Given the description of an element on the screen output the (x, y) to click on. 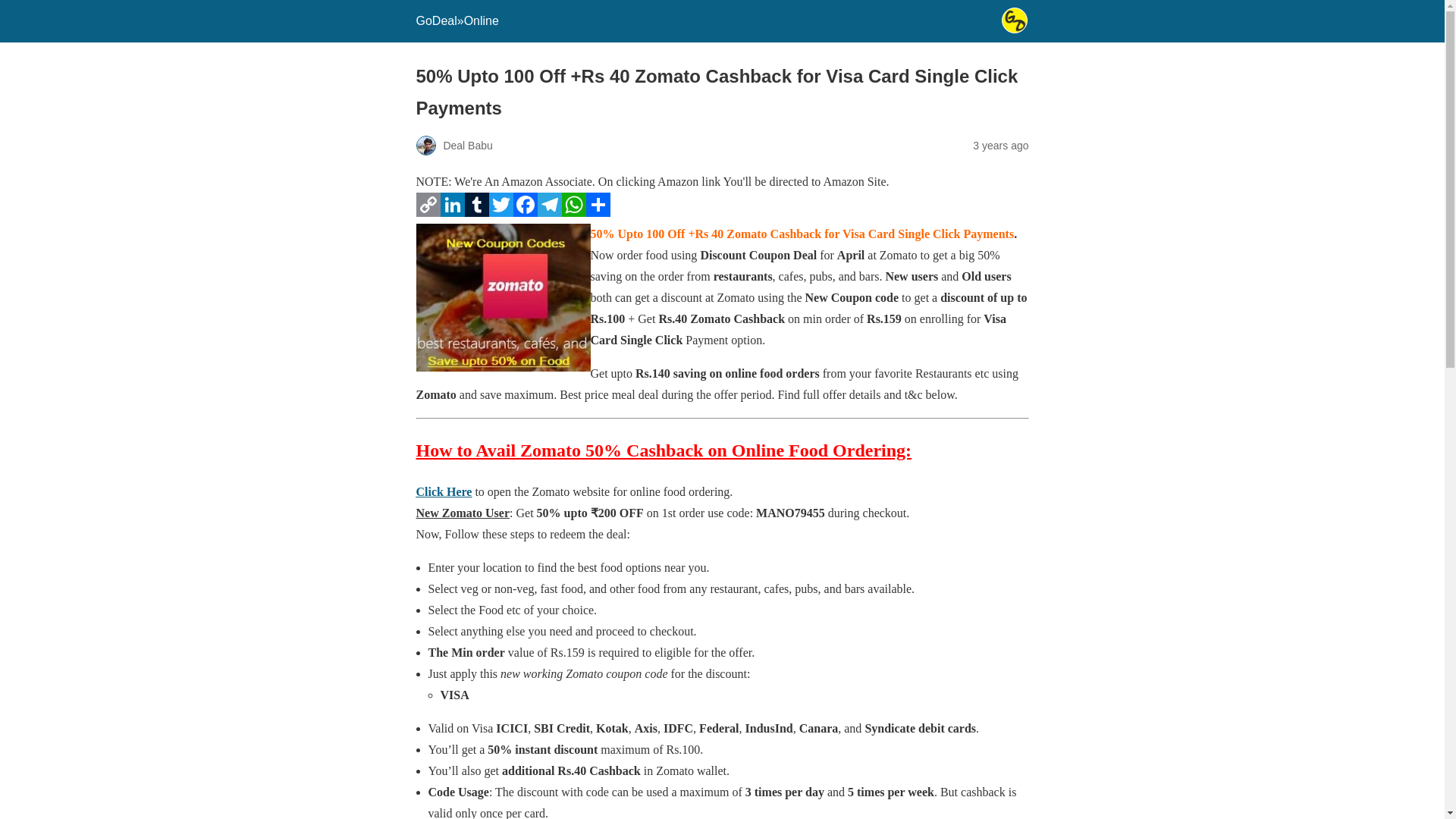
Click Here (442, 491)
Copy Link (426, 212)
WhatsApp (572, 212)
LinkedIn (451, 212)
Facebook (524, 212)
Twitter (499, 212)
Telegram (548, 212)
Tumblr (475, 212)
